Given the description of an element on the screen output the (x, y) to click on. 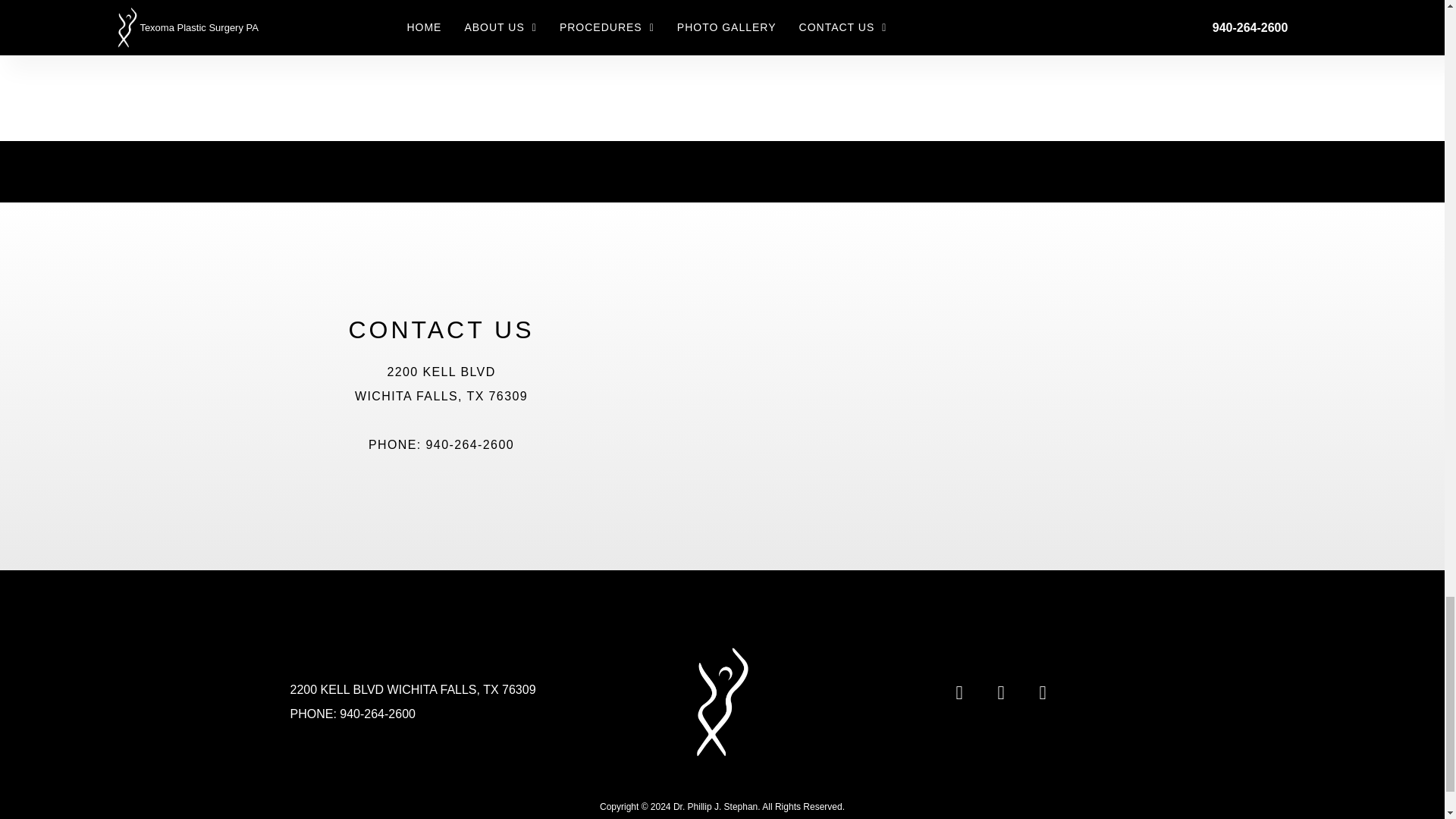
Texoma Plastic Surgery PA (873, 385)
